Given the description of an element on the screen output the (x, y) to click on. 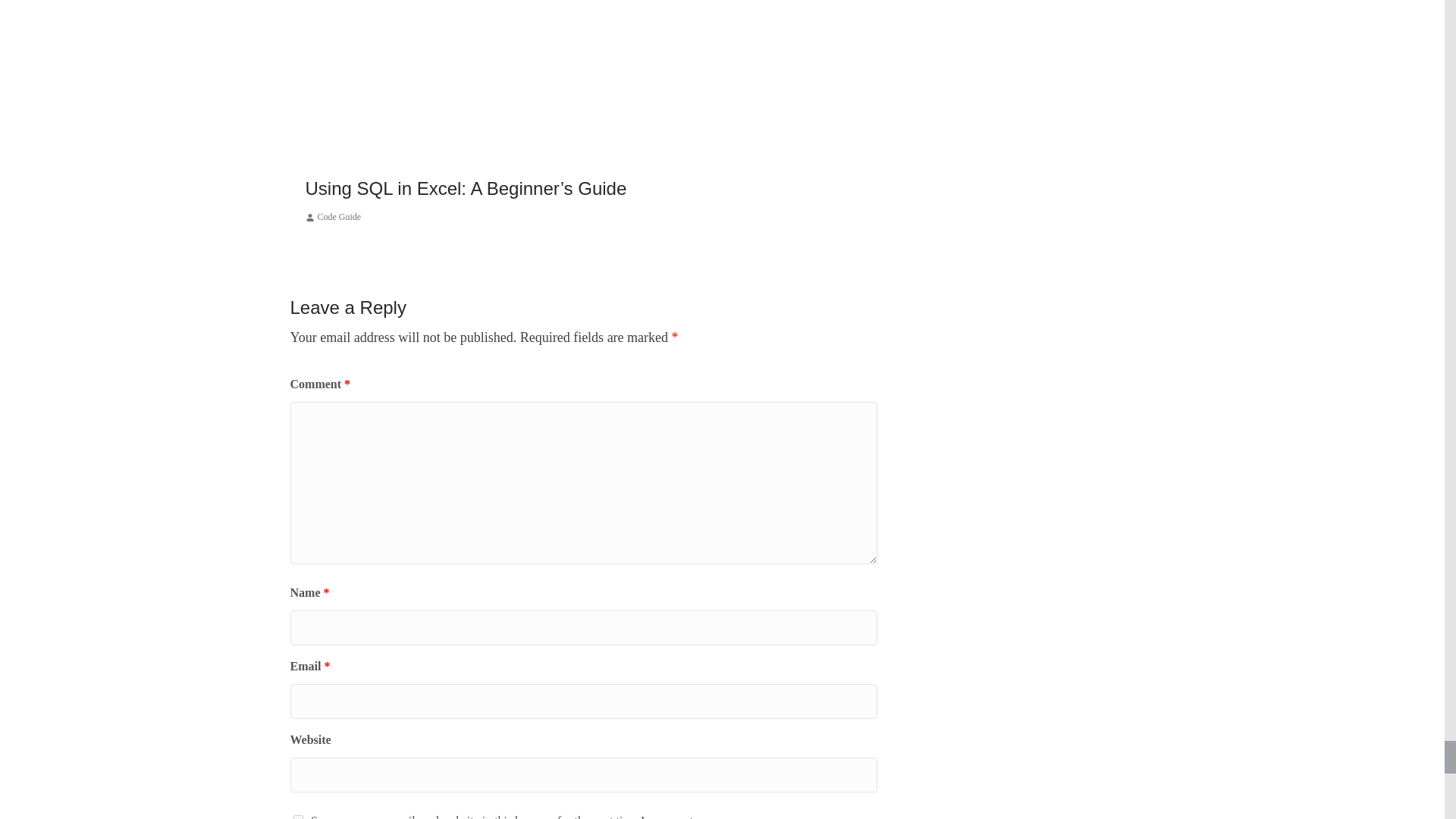
yes (297, 816)
